Given the description of an element on the screen output the (x, y) to click on. 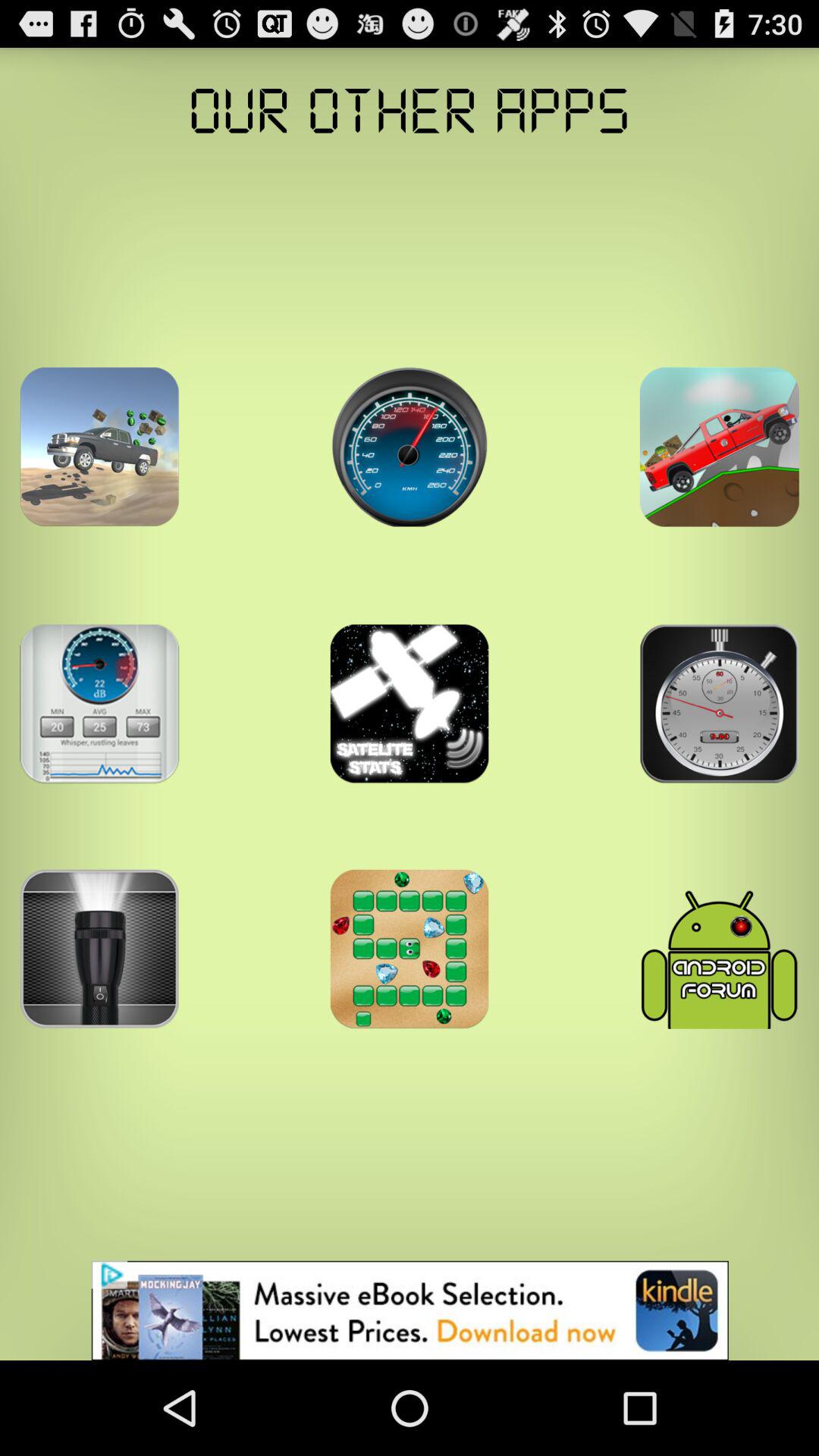
show more (99, 703)
